Given the description of an element on the screen output the (x, y) to click on. 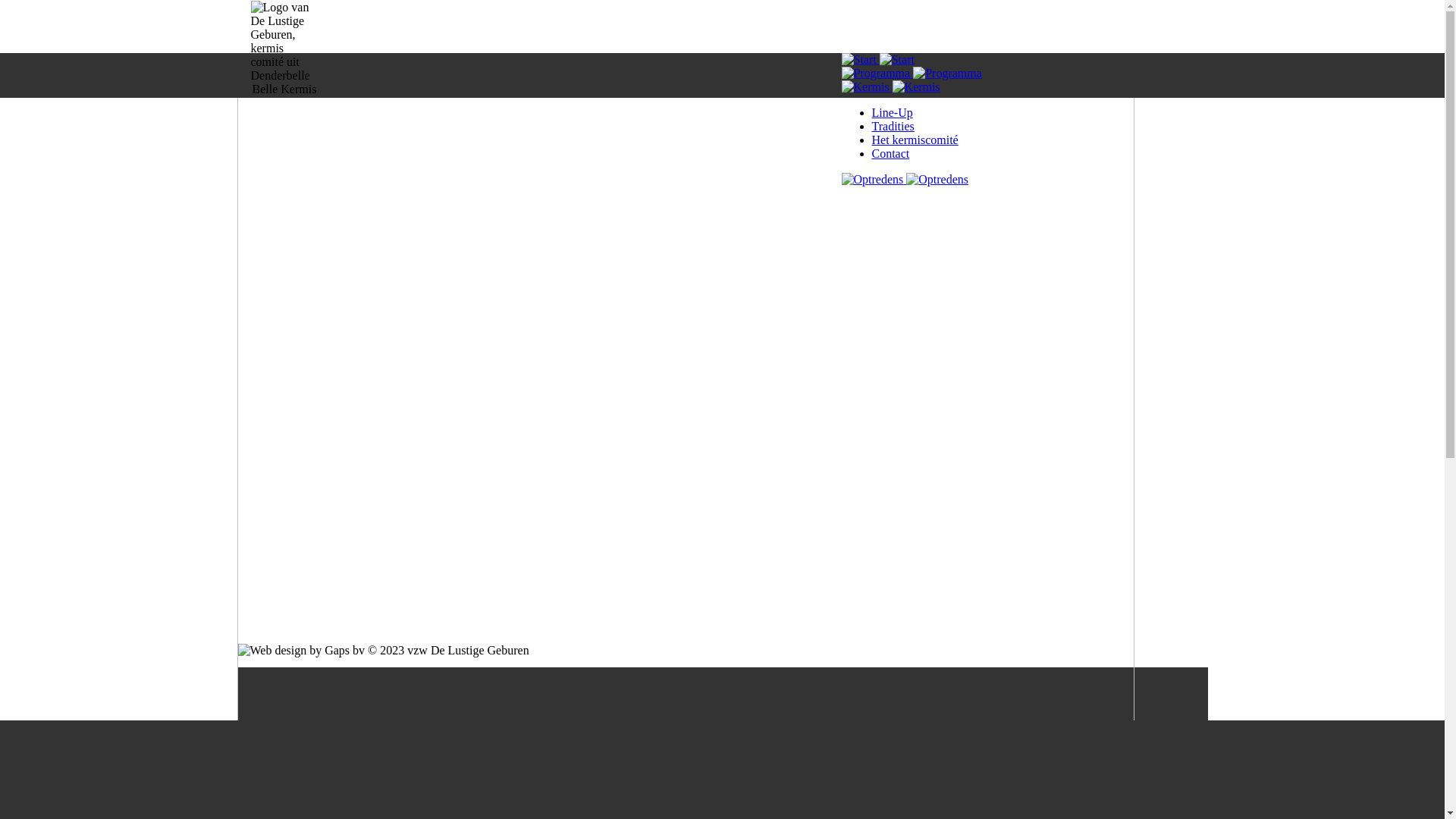
Line-Up Element type: text (892, 112)
Tradities Element type: text (893, 125)
Contact Element type: text (891, 153)
